Given the description of an element on the screen output the (x, y) to click on. 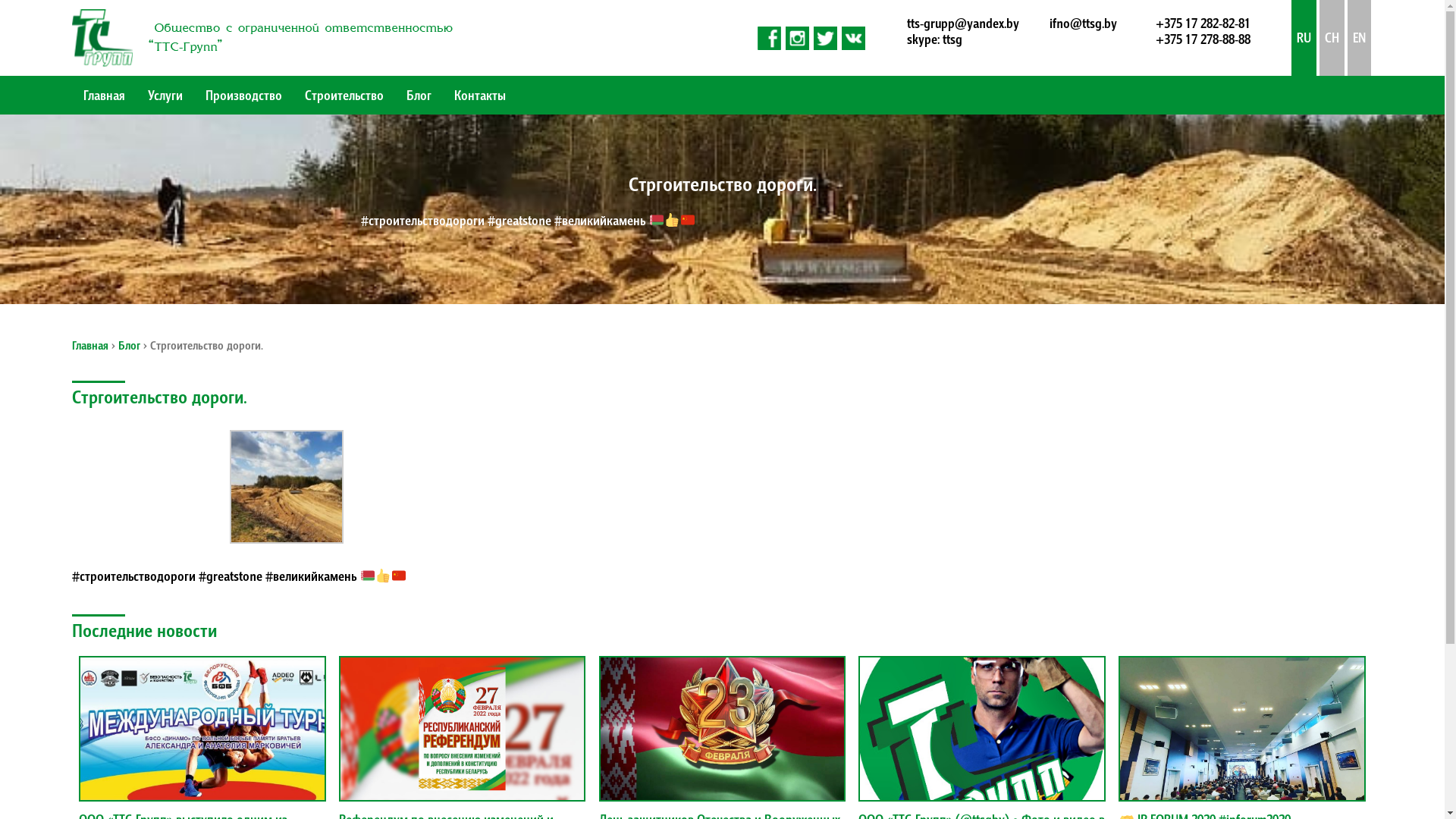
EN Element type: text (1359, 37)
RU Element type: text (1303, 37)
CH Element type: text (1331, 37)
